Given the description of an element on the screen output the (x, y) to click on. 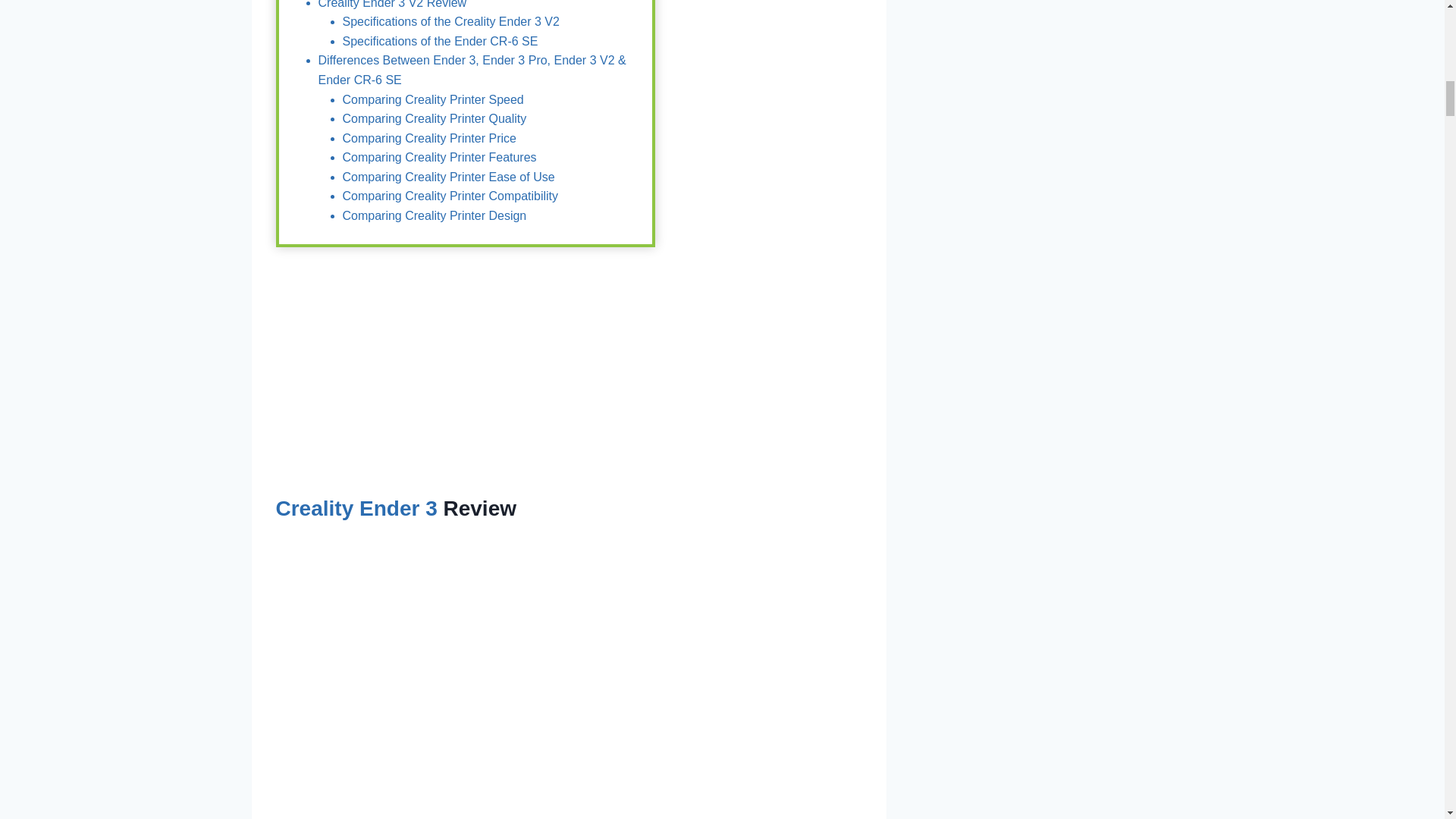
Specifications of the Ender CR-6 SE (440, 41)
Comparing Creality Printer Speed (433, 98)
Comparing Creality Printer Features (439, 156)
Comparing Creality Printer Price (429, 137)
Creality Ender 3 V2 Review (392, 4)
Comparing Creality Printer Quality (434, 118)
Specifications of the Creality Ender 3 V2 (450, 21)
